Given the description of an element on the screen output the (x, y) to click on. 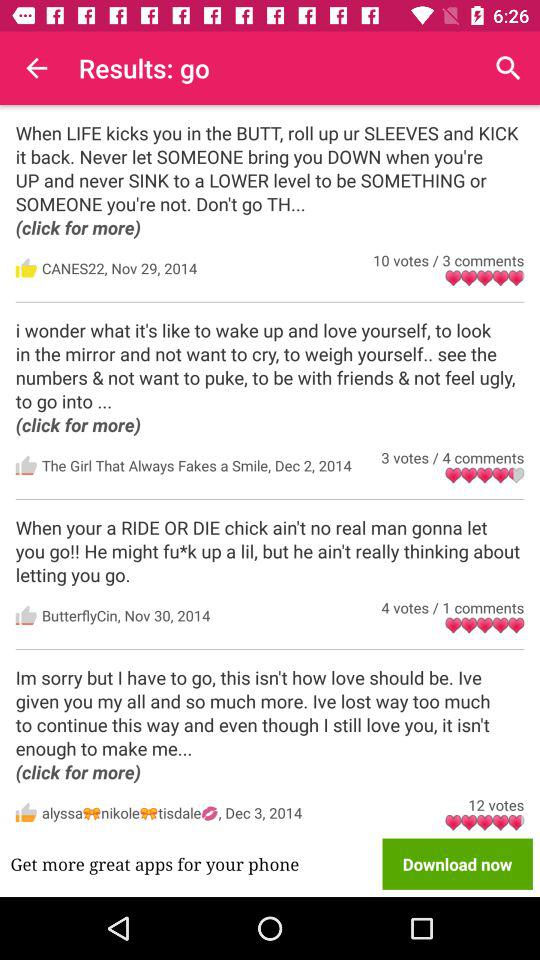
choose the icon to the left of results: go icon (36, 68)
